Given the description of an element on the screen output the (x, y) to click on. 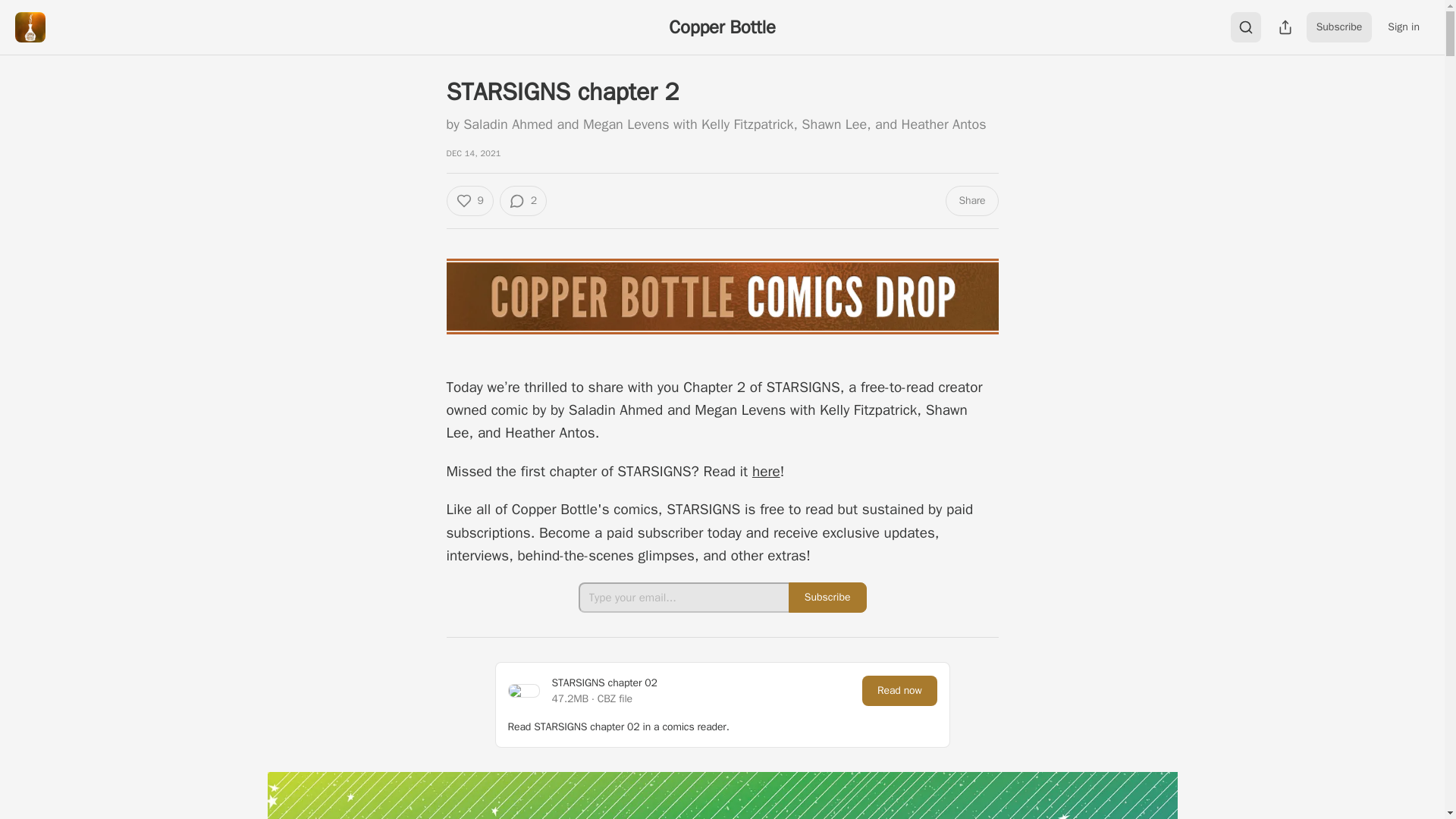
here (766, 527)
Subscribe (1339, 27)
9 (469, 200)
Read now (898, 747)
Subscribe (827, 654)
Share (970, 200)
Sign in (1403, 27)
Copper Bottle (721, 26)
2 (523, 200)
